Given the description of an element on the screen output the (x, y) to click on. 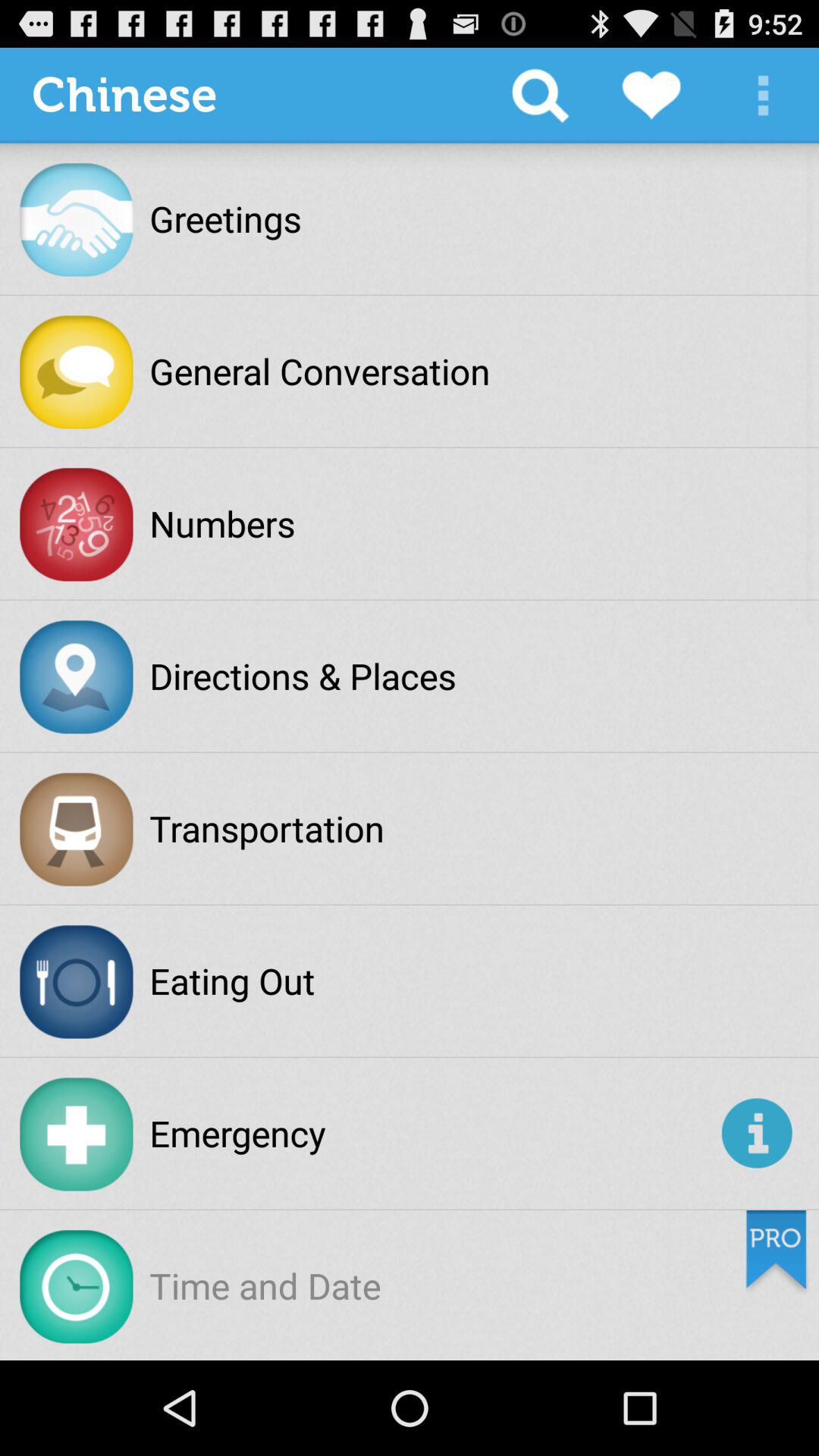
flip until time and date item (265, 1285)
